Given the description of an element on the screen output the (x, y) to click on. 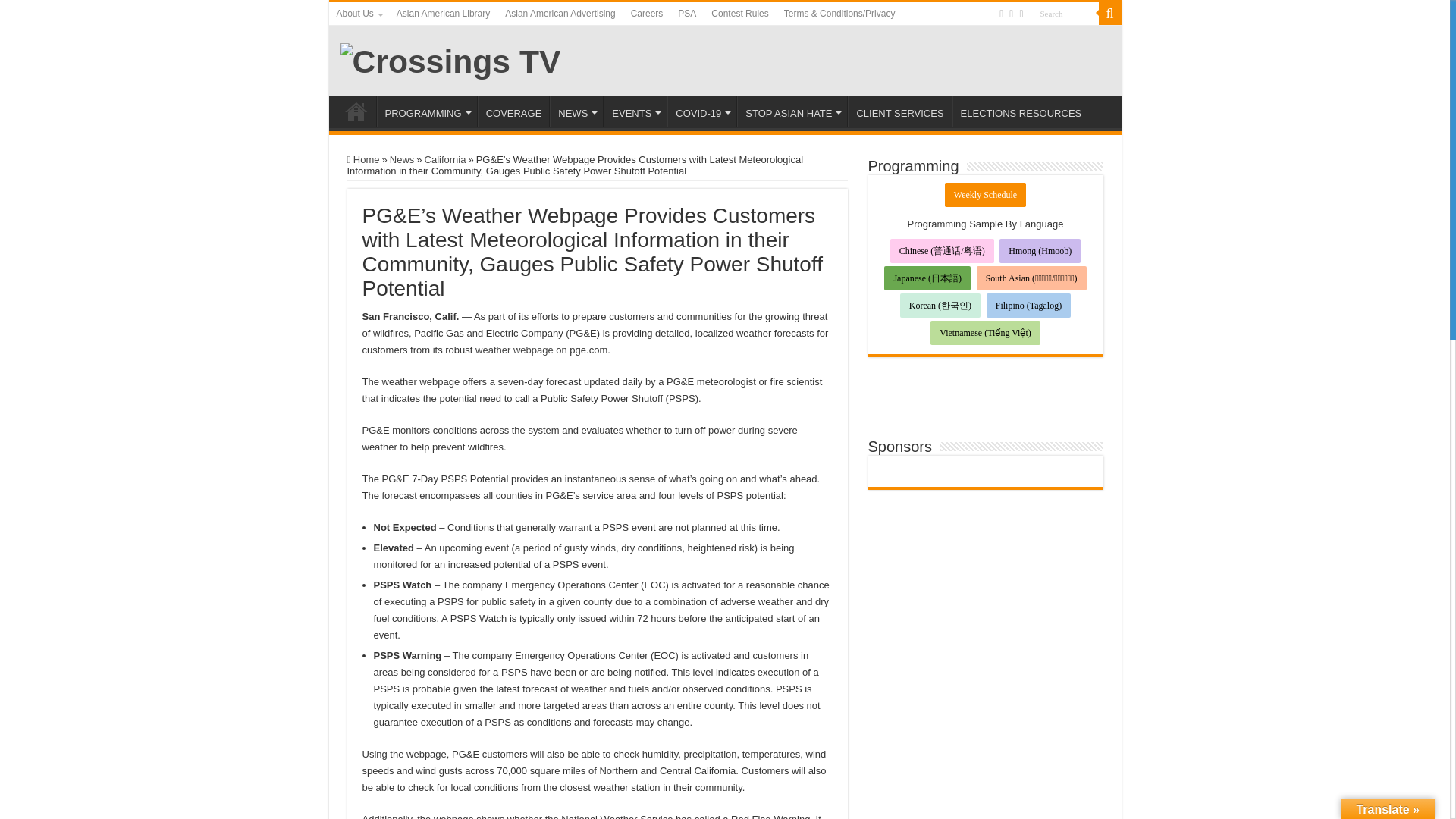
About Us (358, 13)
Careers (647, 13)
Crossings TV (449, 58)
HOME (355, 111)
NEWS (576, 111)
Search (1063, 13)
Search (1063, 13)
Asian American Advertising (560, 13)
Search (1109, 13)
Search (1063, 13)
